Given the description of an element on the screen output the (x, y) to click on. 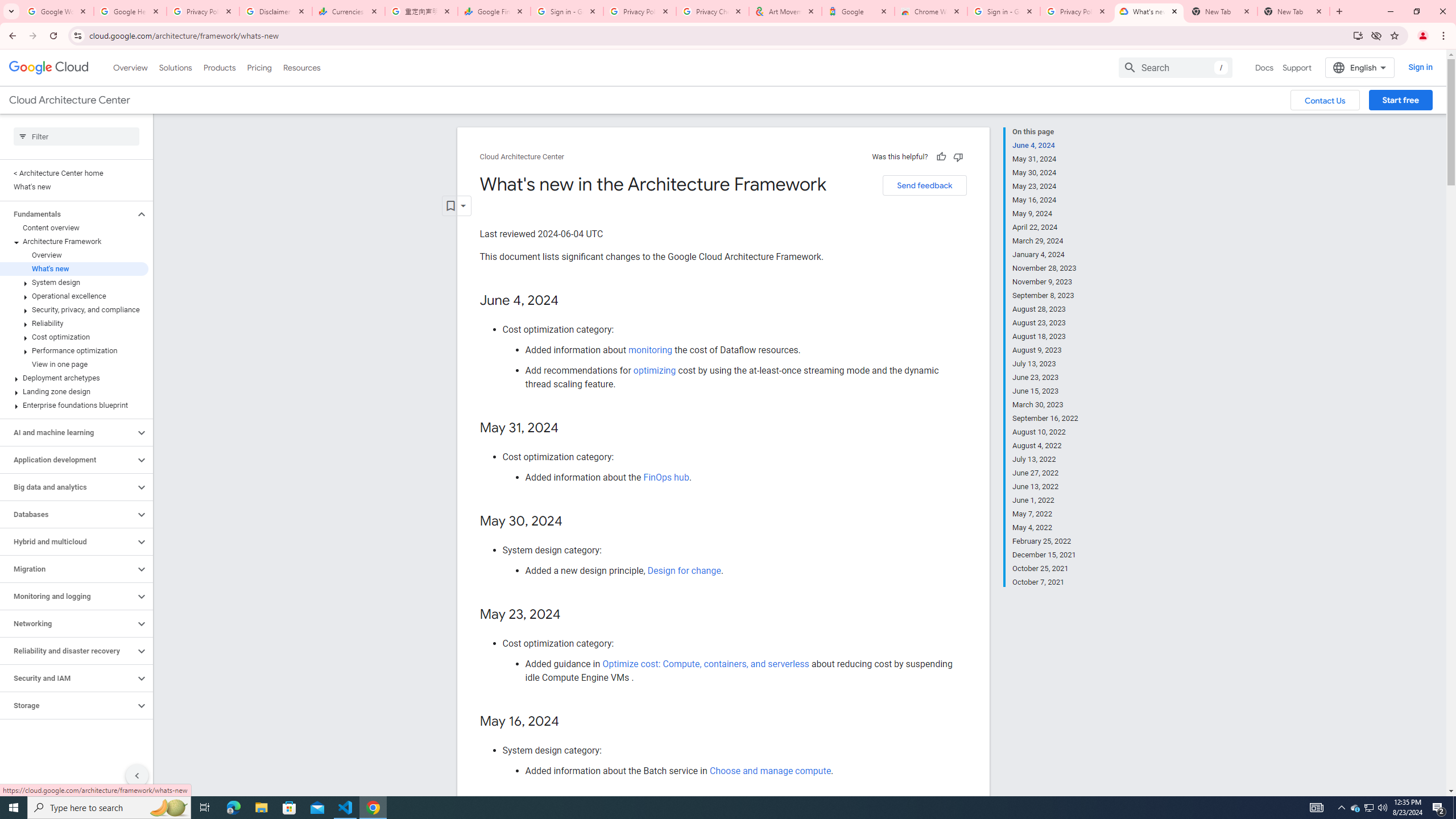
Copy link to this section: May 16, 2024 (570, 721)
View in one page (74, 364)
Monitoring and logging (67, 596)
Security, privacy, and compliance (74, 309)
April 22, 2024 (1044, 227)
Install Google Cloud (1358, 35)
Google Workspace Admin Community (57, 11)
Big data and analytics (67, 486)
May 9, 2024 (1044, 213)
September 8, 2023 (1044, 295)
October 7, 2021 (1044, 581)
May 7, 2022 (1044, 513)
